Given the description of an element on the screen output the (x, y) to click on. 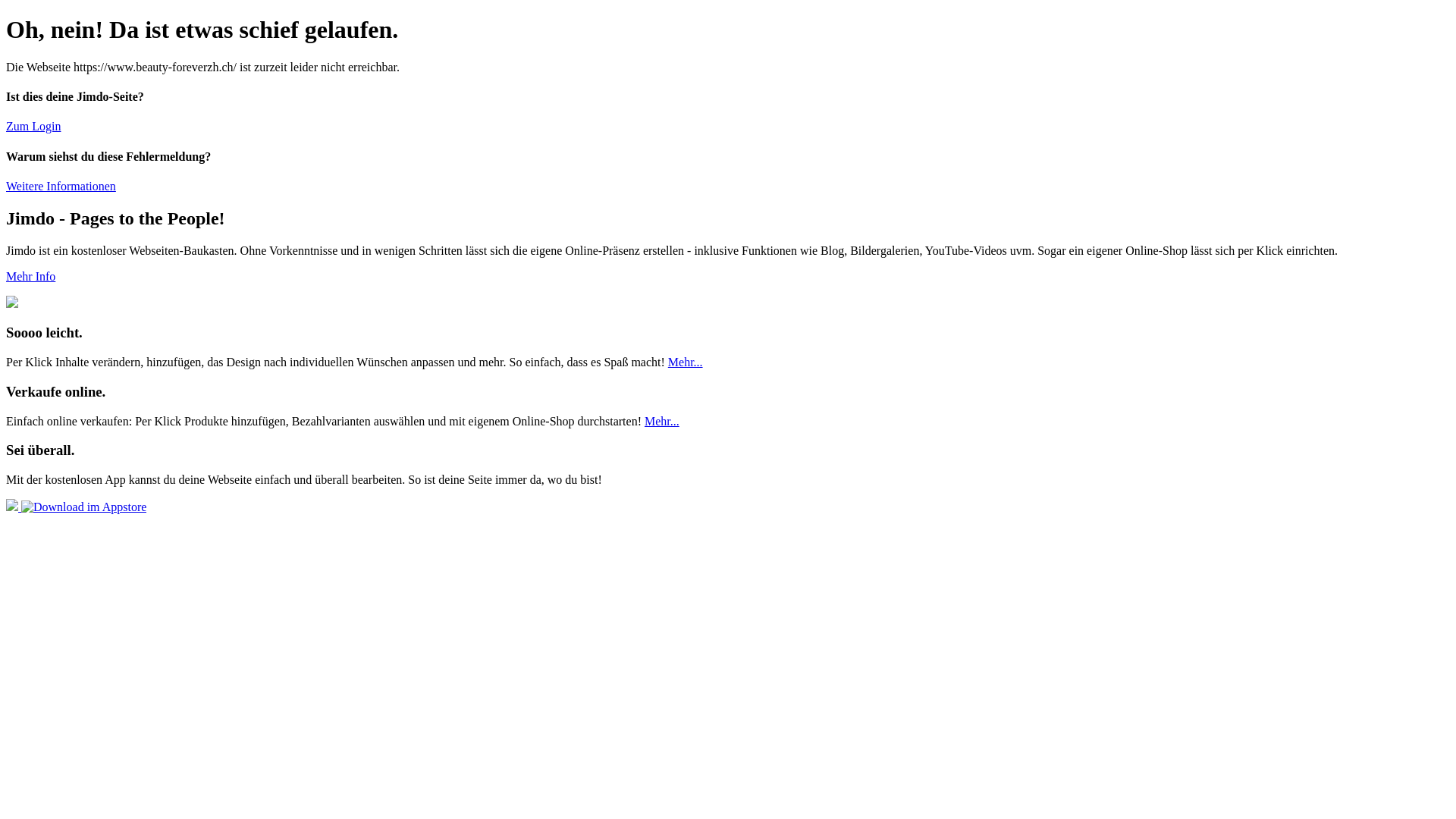
Zum Login Element type: text (33, 125)
Mehr Info Element type: text (30, 275)
Mehr... Element type: text (661, 420)
Weitere Informationen Element type: text (61, 185)
Mehr... Element type: text (685, 361)
